Given the description of an element on the screen output the (x, y) to click on. 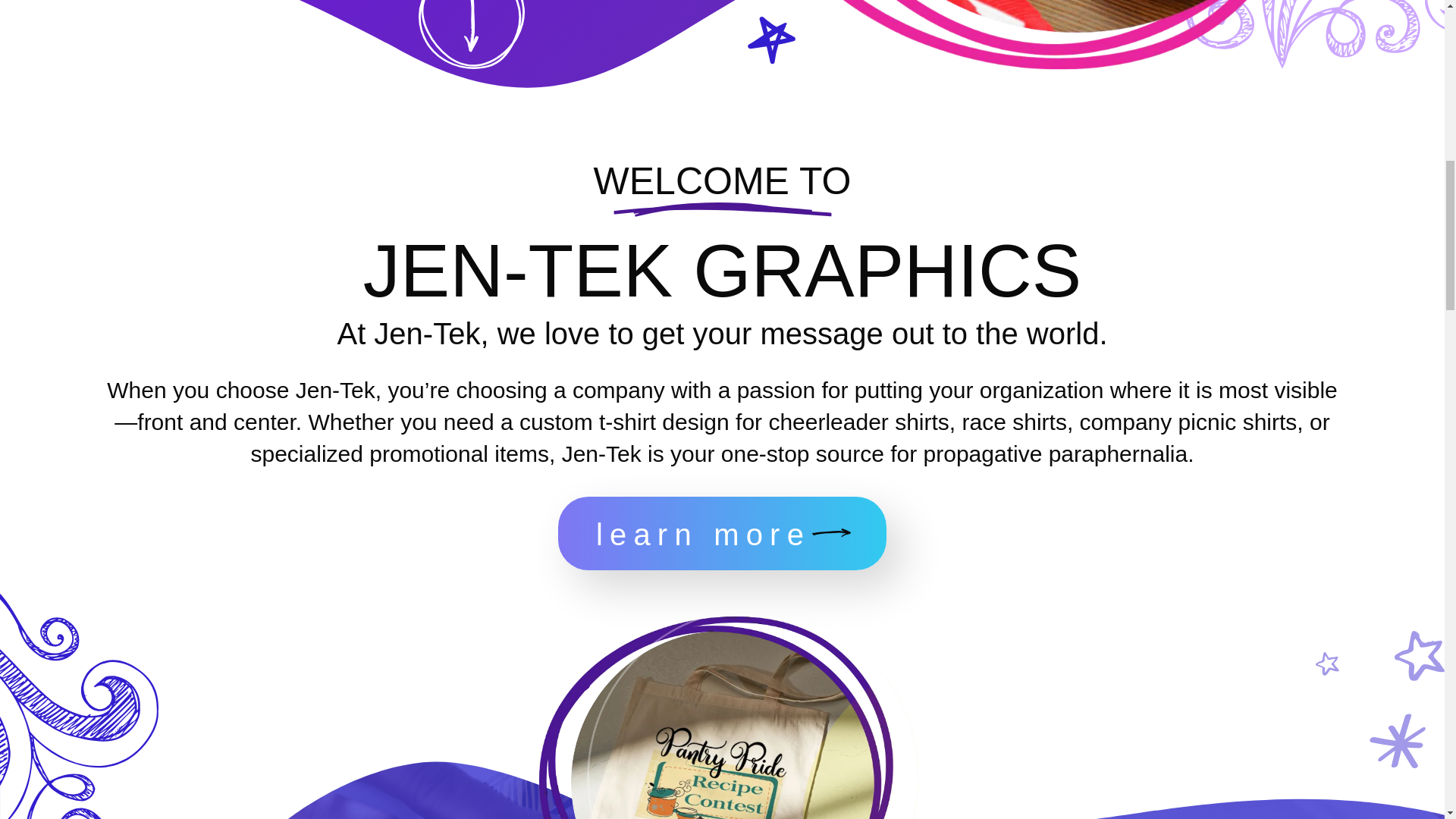
learn more (721, 533)
